Given the description of an element on the screen output the (x, y) to click on. 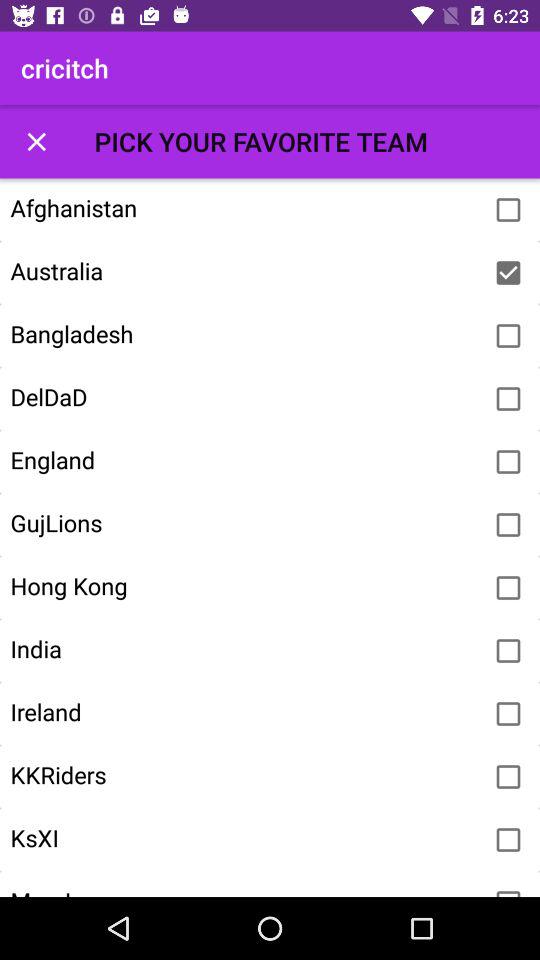
select option bangladesh (508, 336)
